Given the description of an element on the screen output the (x, y) to click on. 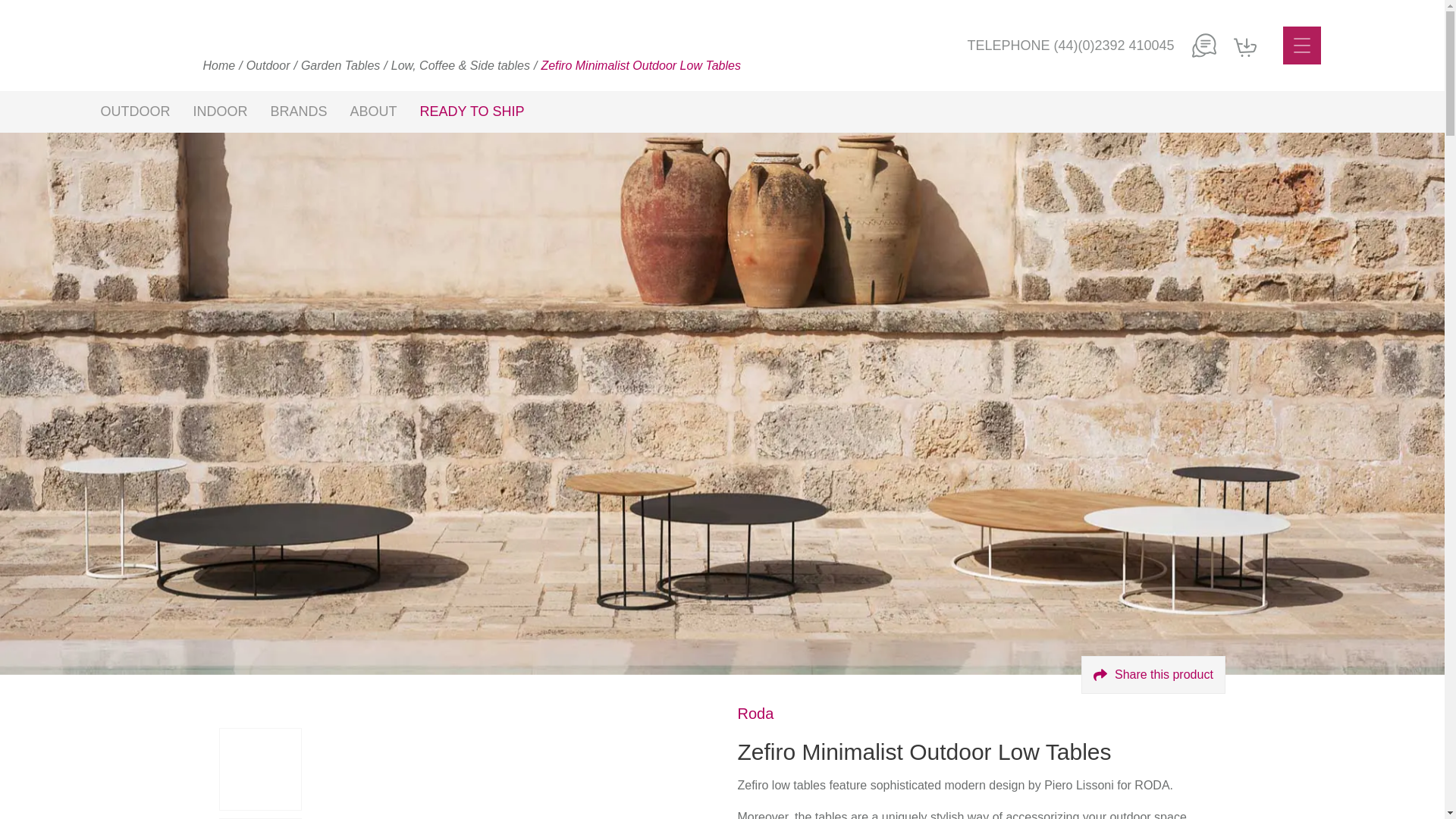
Home (219, 65)
Encompass Furniture (514, 45)
Garden Tables (340, 65)
OUTDOOR (135, 111)
Outdoor (267, 65)
